Given the description of an element on the screen output the (x, y) to click on. 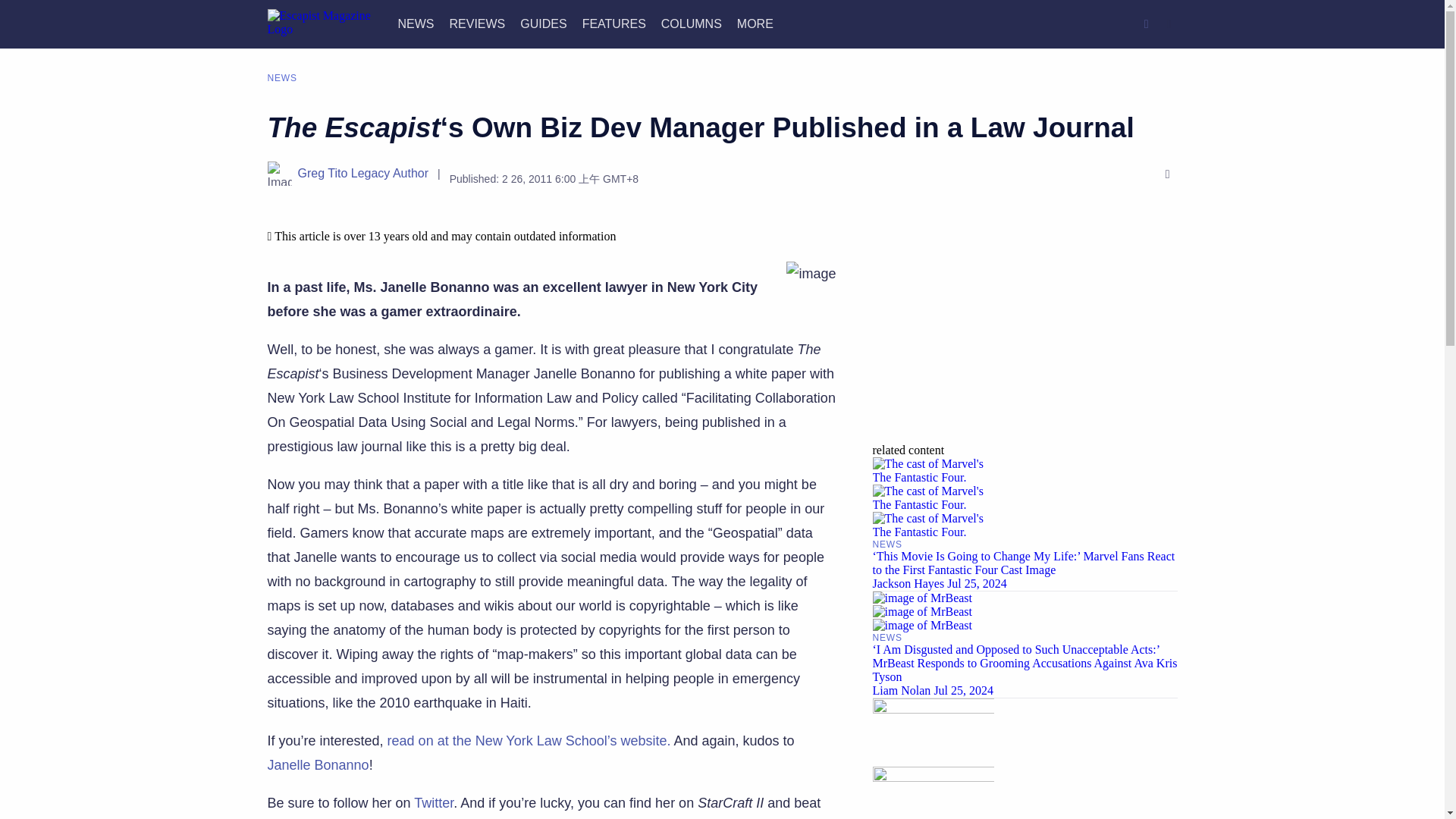
FEATURES (614, 23)
Search (1146, 23)
GUIDES (542, 23)
COLUMNS (691, 23)
REVIEWS (476, 23)
Dark Mode (1168, 23)
NEWS (415, 23)
